Given the description of an element on the screen output the (x, y) to click on. 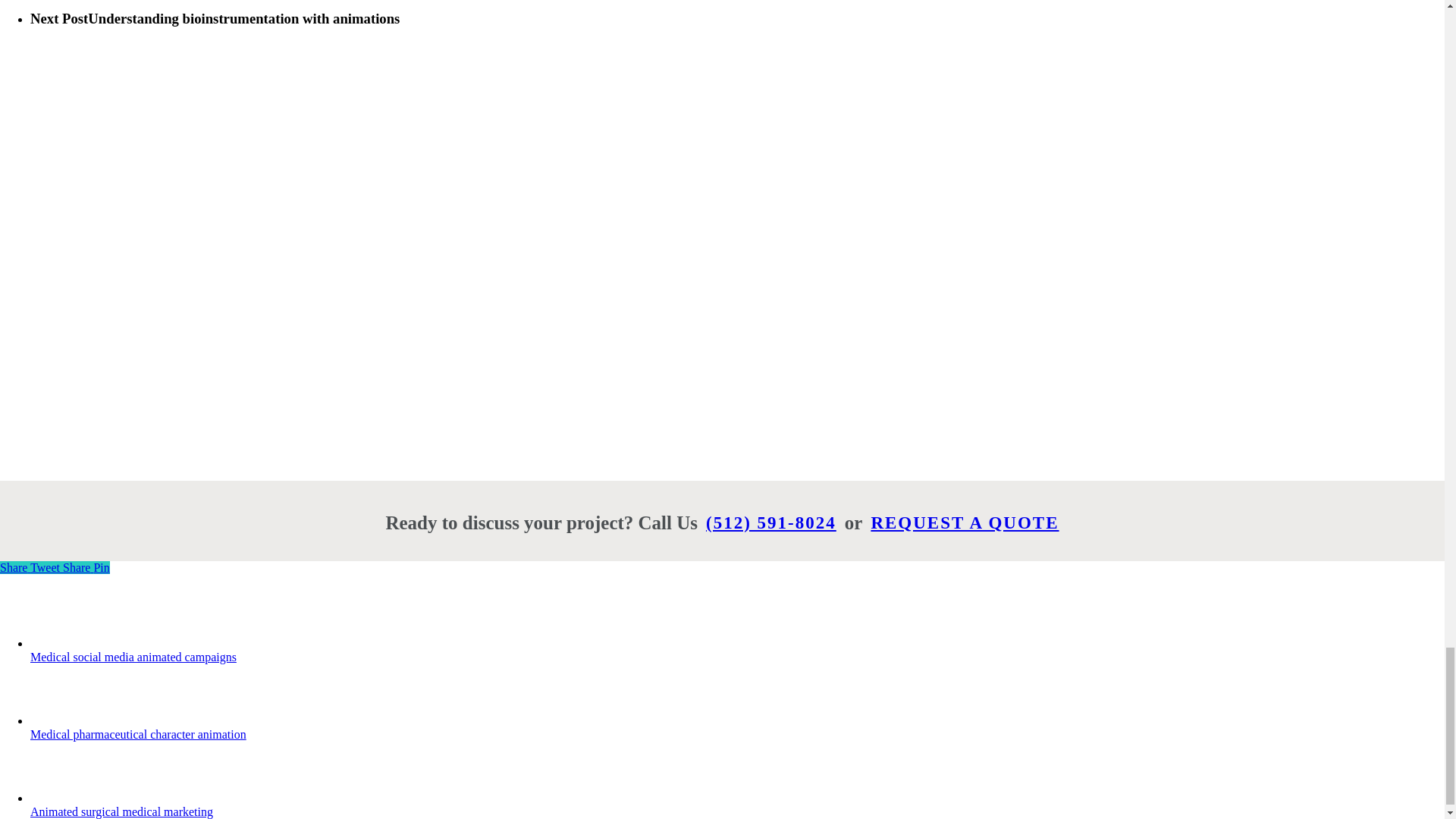
Share this (77, 567)
Share this (15, 567)
Tweet this (46, 567)
Pin this (101, 567)
